Given the description of an element on the screen output the (x, y) to click on. 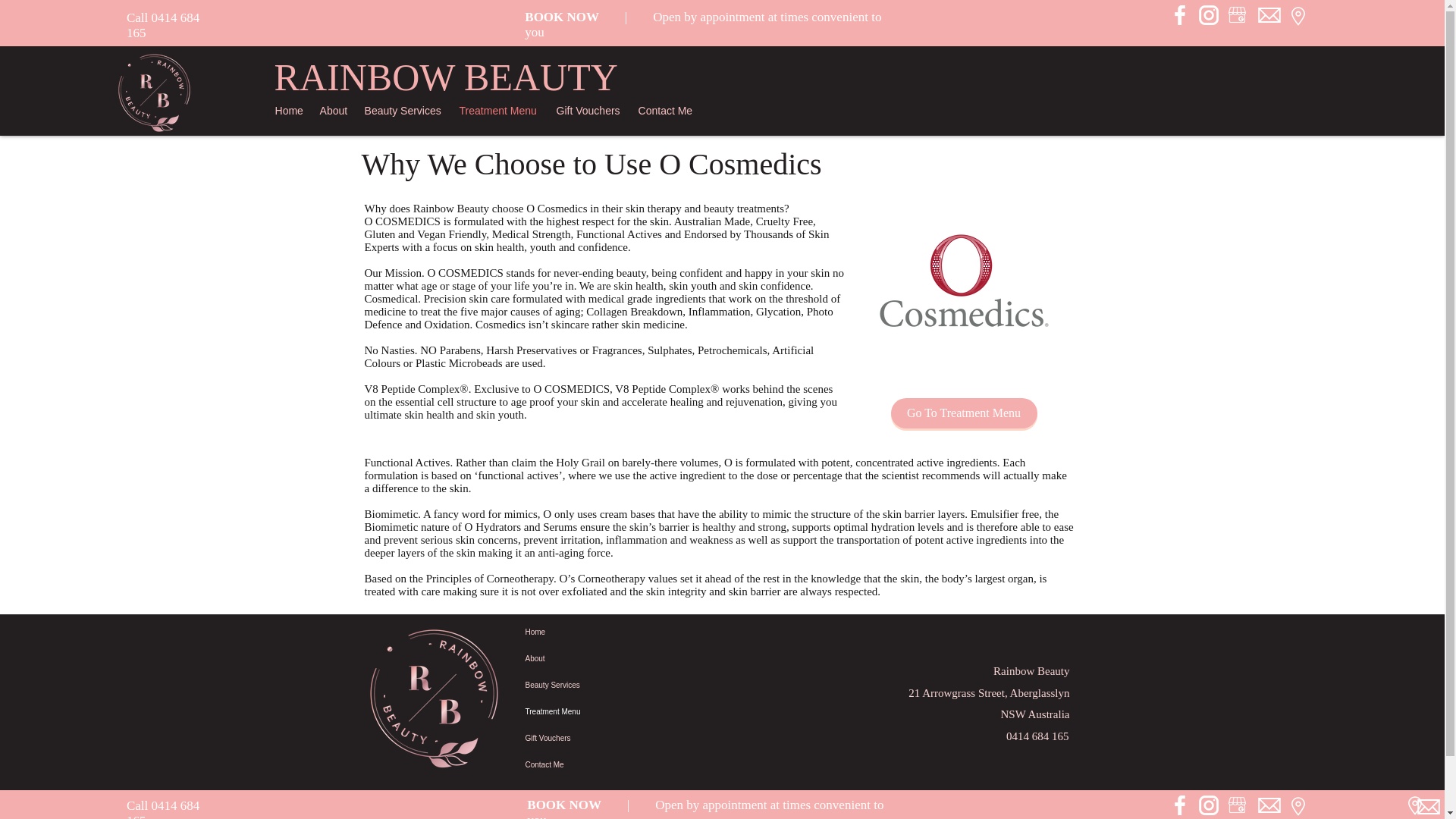
Beauty Services (594, 684)
Home (594, 632)
About (334, 110)
0414 684 165 (162, 808)
RAINBOW BEAUTY (446, 77)
Home (290, 110)
Gift Vouchers (594, 737)
Treatment Menu (499, 110)
Beauty Services (403, 110)
Contact Me (666, 110)
